Given the description of an element on the screen output the (x, y) to click on. 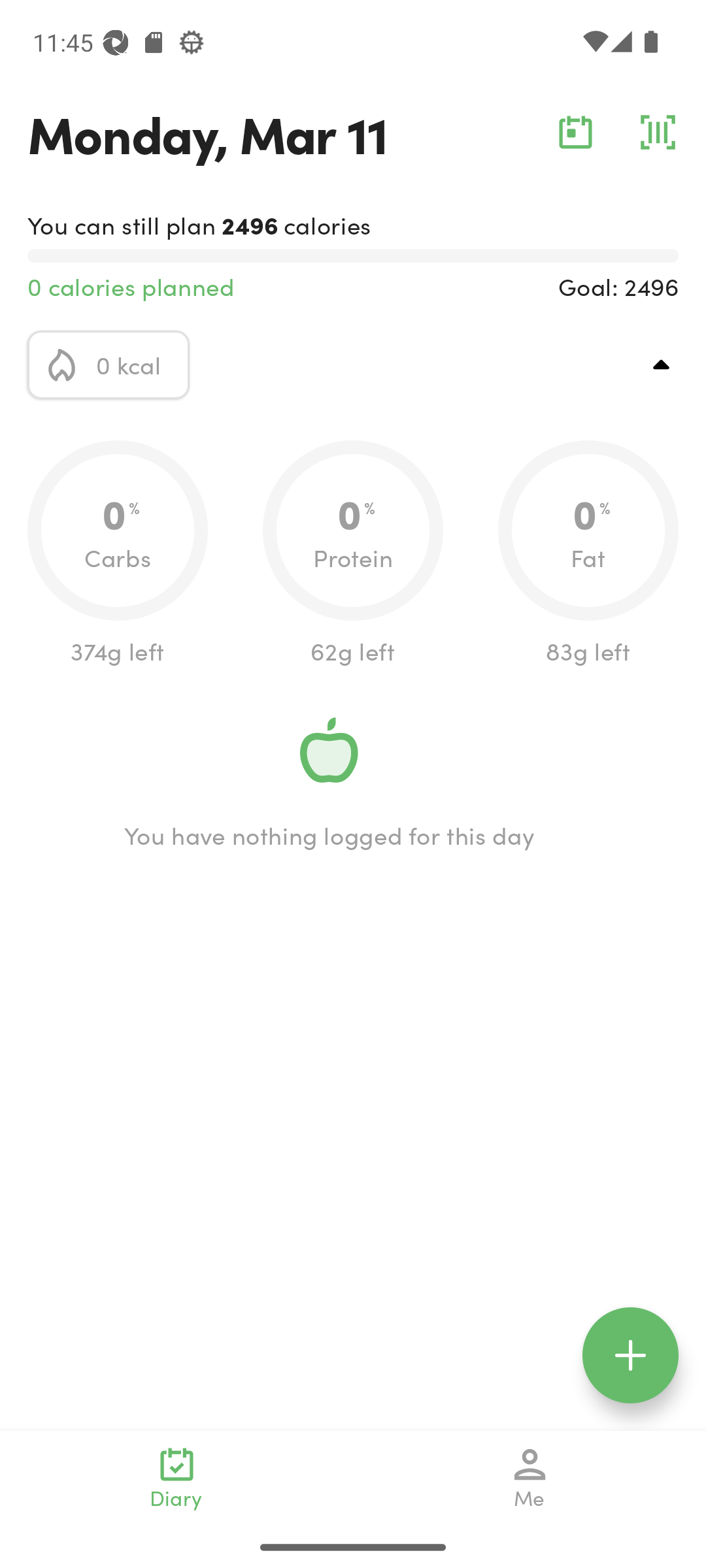
calendar_action (575, 132)
barcode_action (658, 132)
calorie_icon 0 kcal (108, 365)
top_right_action (661, 365)
0.0 0 % Carbs 374g left (117, 553)
0.0 0 % Protein 62g left (352, 553)
0.0 0 % Fat 83g left (588, 553)
floating_action_icon (630, 1355)
Me navigation_icon (529, 1478)
